Given the description of an element on the screen output the (x, y) to click on. 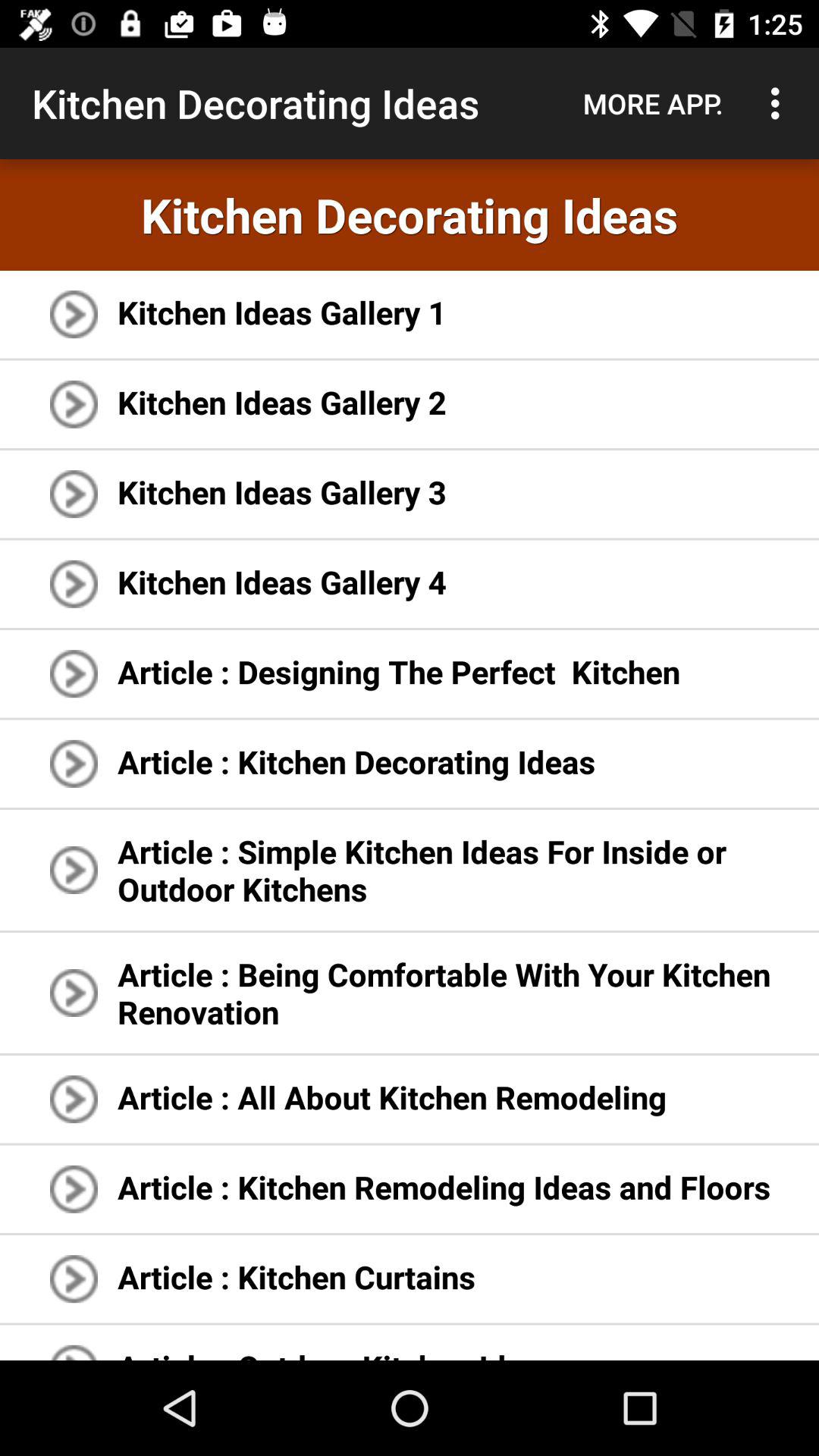
select the app above the kitchen decorating ideas icon (653, 103)
